Given the description of an element on the screen output the (x, y) to click on. 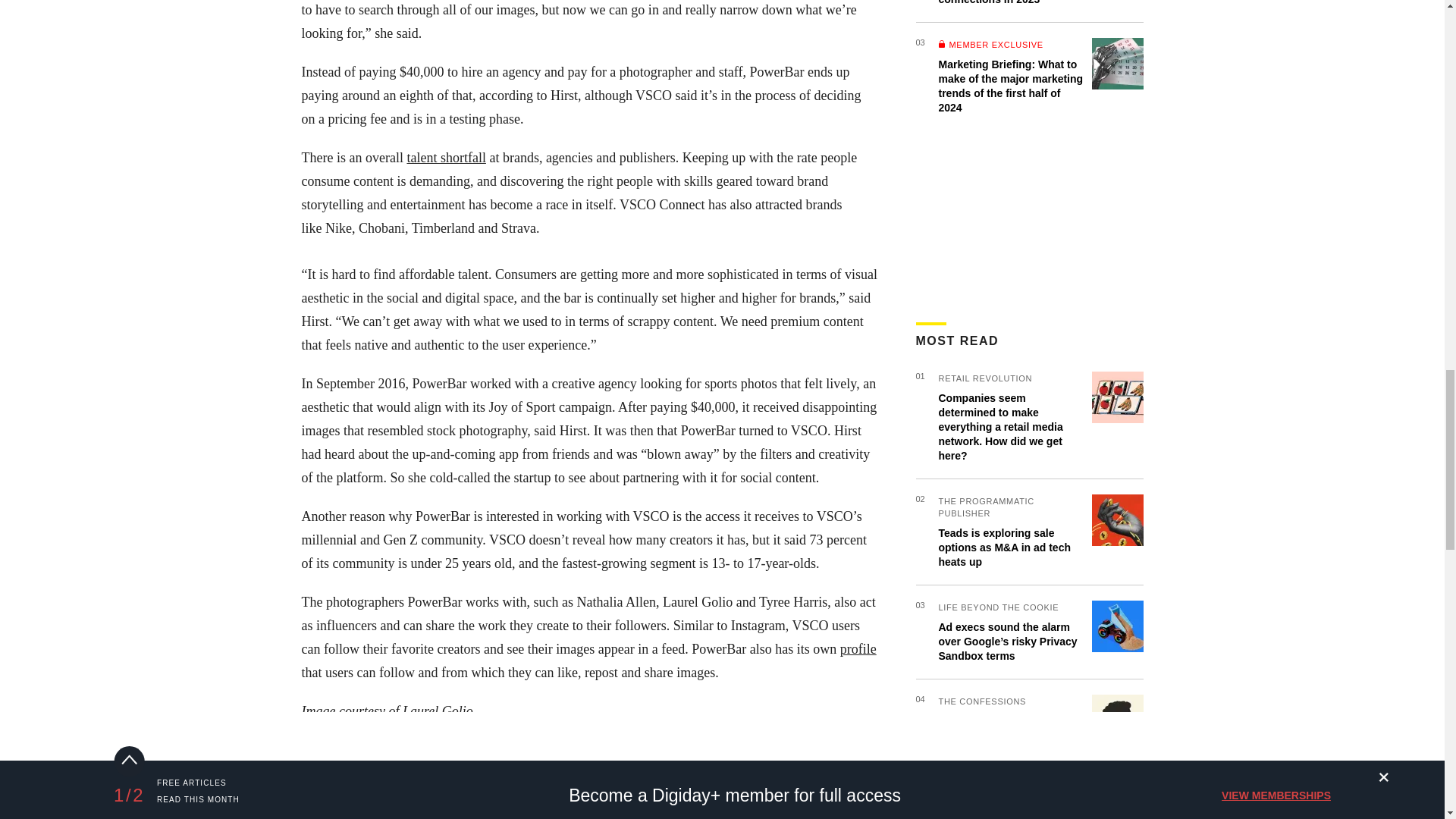
Share on LinkedIn (398, 757)
Share on Twitter (357, 757)
Share on Reddit (440, 757)
Share on Facebook (316, 757)
